Given the description of an element on the screen output the (x, y) to click on. 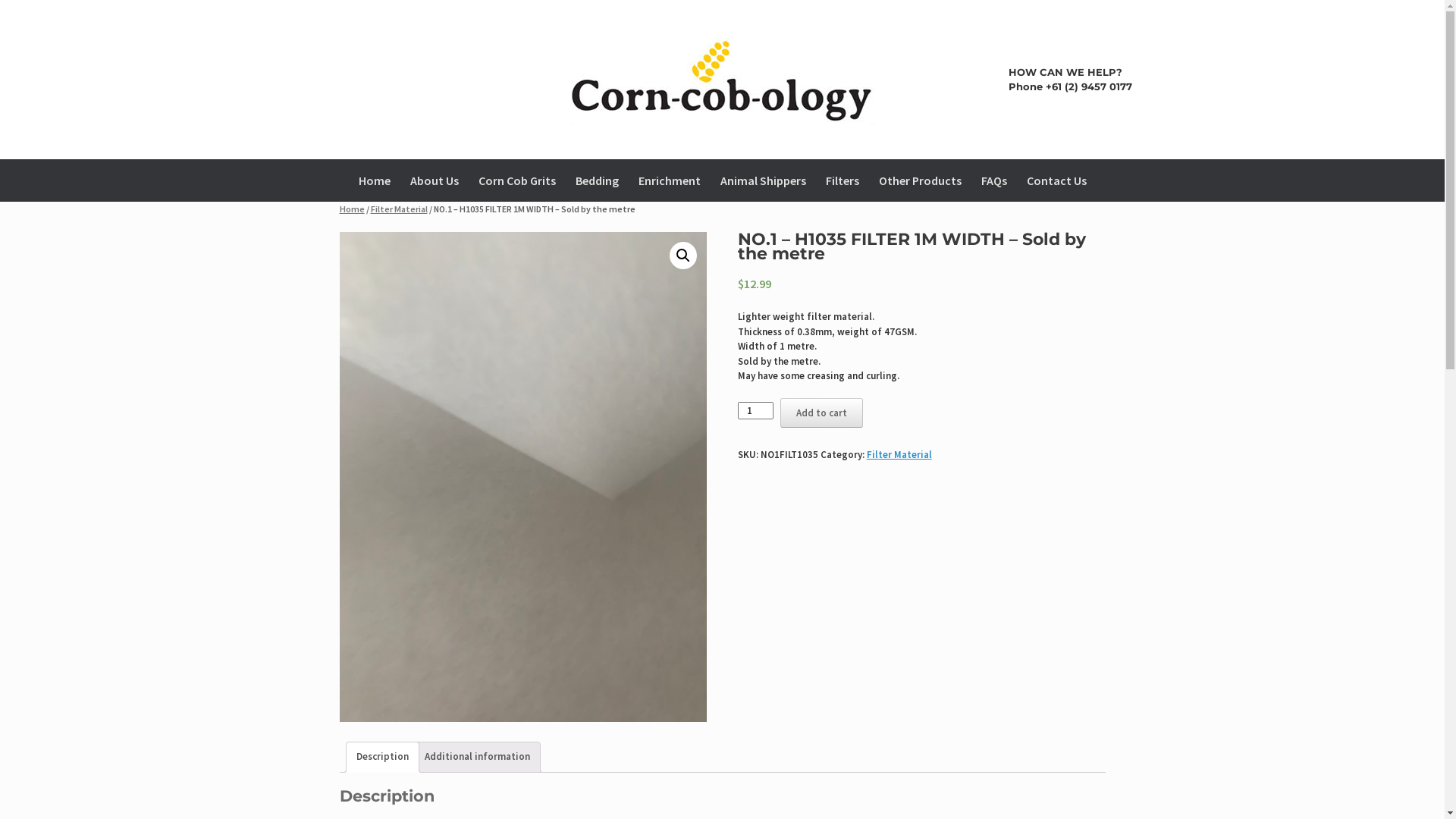
Home Element type: text (351, 208)
Description Element type: text (382, 756)
Filter Material Element type: text (898, 454)
FAQs Element type: text (993, 180)
Add to cart Element type: text (821, 412)
Other Products Element type: text (920, 180)
Corn Cob Grits Element type: text (516, 180)
Contact Us Element type: text (1055, 180)
About Us Element type: text (434, 180)
IMG_2043 Element type: hover (523, 476)
Enrichment Element type: text (668, 180)
Additional information Element type: text (477, 756)
CORNCOBOLOGY PTY LTD Element type: hover (721, 79)
Animal Shippers Element type: text (762, 180)
Filters Element type: text (842, 180)
Qty Element type: hover (755, 410)
Home Element type: text (374, 180)
Bedding Element type: text (596, 180)
Filter Material Element type: text (398, 208)
